Given the description of an element on the screen output the (x, y) to click on. 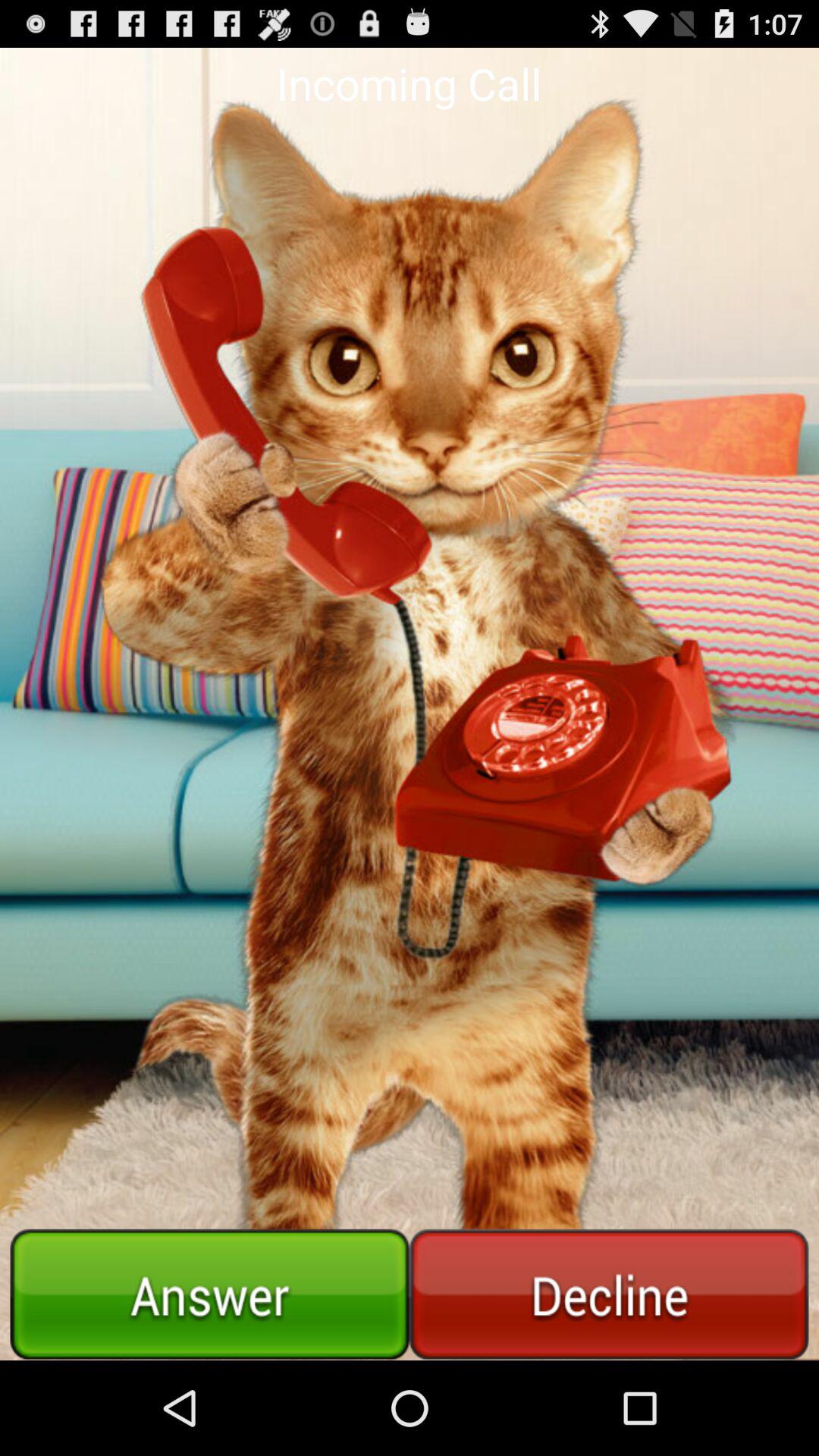
answer the phone (209, 1294)
